Given the description of an element on the screen output the (x, y) to click on. 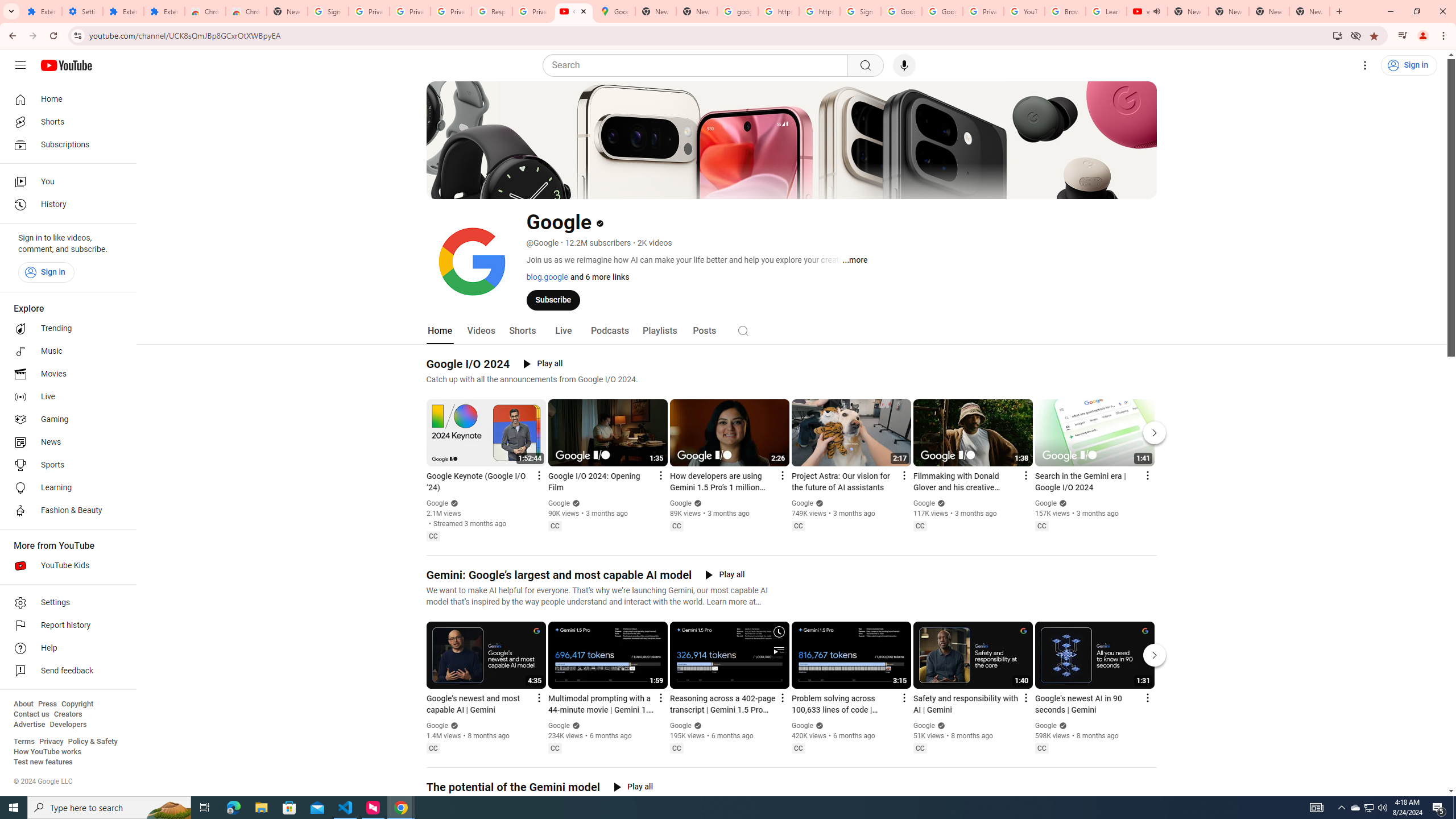
View site information (77, 35)
Policy & Safety (91, 741)
You (64, 181)
Subscribe (552, 299)
Reload (52, 35)
Contact us (31, 714)
Google - YouTube (573, 11)
Shorts (521, 330)
Subscriptions (64, 144)
Privacy (51, 741)
Trending (64, 328)
Home (64, 99)
